Given the description of an element on the screen output the (x, y) to click on. 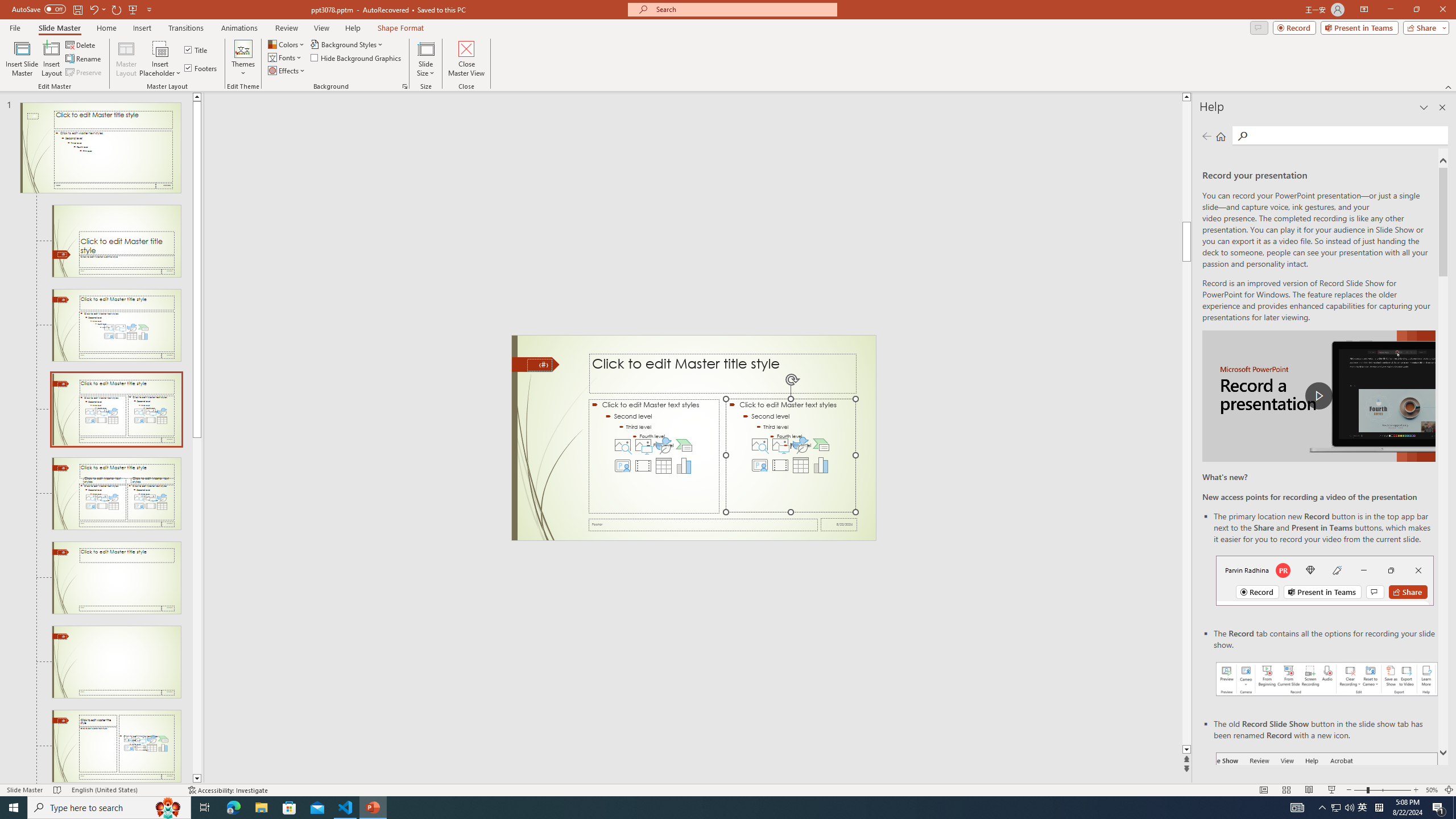
Insert a SmartArt Graphic (820, 444)
Insert Cameo (759, 465)
Slide Comparison Layout: used by no slides (116, 577)
Slide Size (425, 58)
Slide Master (59, 28)
Insert Video (780, 465)
Slide Number (539, 364)
Insert Layout (51, 58)
